Given the description of an element on the screen output the (x, y) to click on. 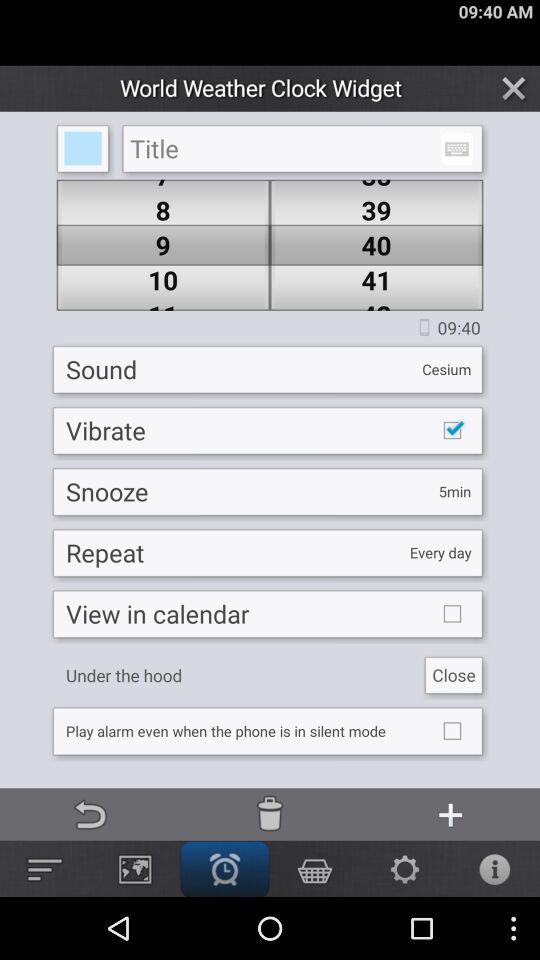
type for title (302, 148)
